Given the description of an element on the screen output the (x, y) to click on. 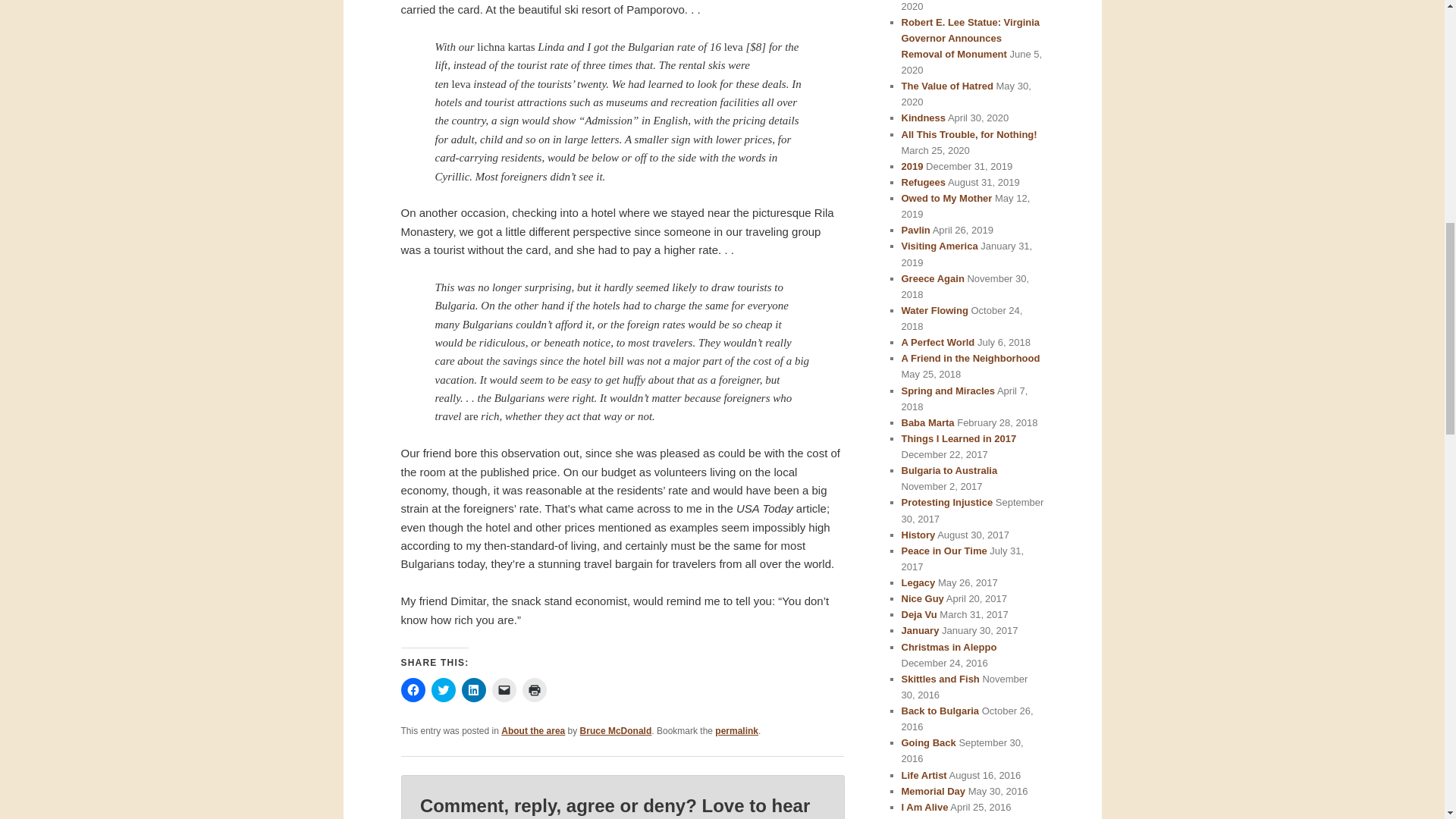
permalink (736, 730)
Click to print (533, 689)
Click to share on Twitter (442, 689)
Bruce McDonald (615, 730)
Click to email a link to a friend (503, 689)
Click to share on LinkedIn (472, 689)
Click to share on Facebook (412, 689)
About the area (532, 730)
